Given the description of an element on the screen output the (x, y) to click on. 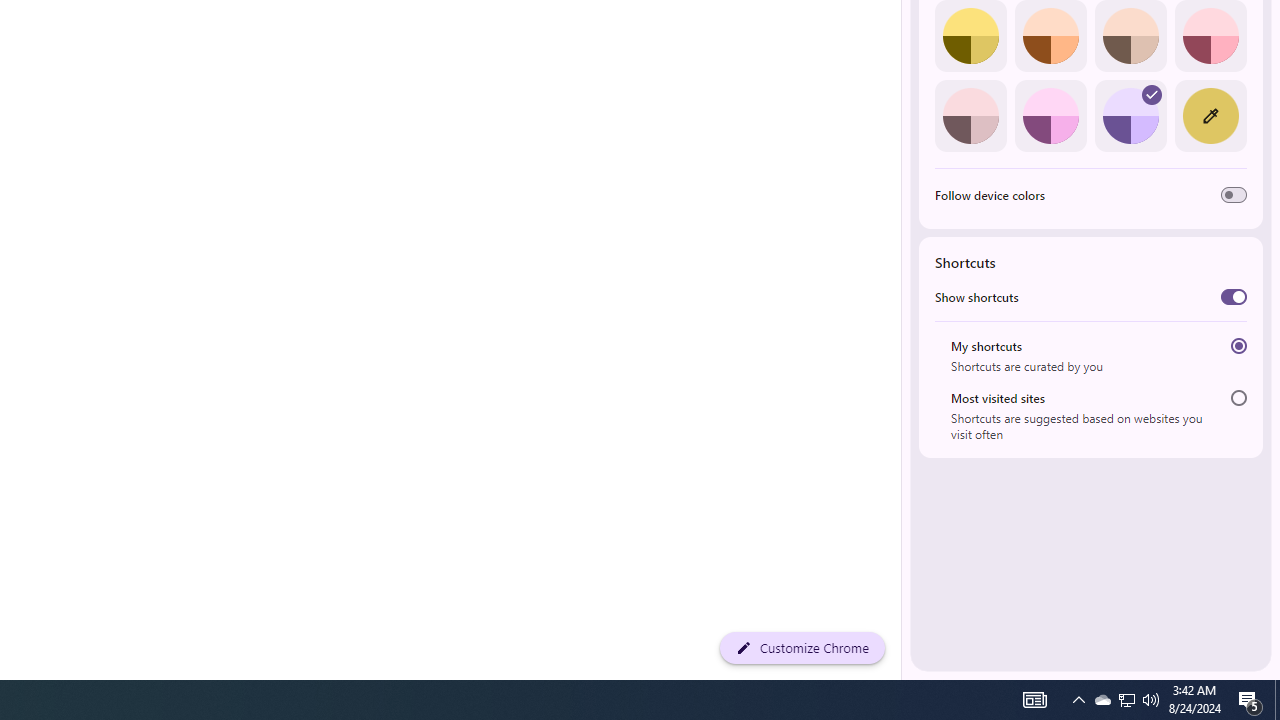
Rose (1210, 36)
Orange (1050, 36)
Apricot (1130, 36)
Customize Chrome (801, 647)
Pink (970, 115)
AutomationID: svg (1151, 94)
Side Panel Resize Handle (905, 39)
Citron (970, 36)
Show shortcuts (1233, 296)
Custom color (1210, 115)
My shortcuts (1238, 345)
Violet (1130, 115)
Most visited sites (1238, 398)
Fuchsia (1050, 115)
